Given the description of an element on the screen output the (x, y) to click on. 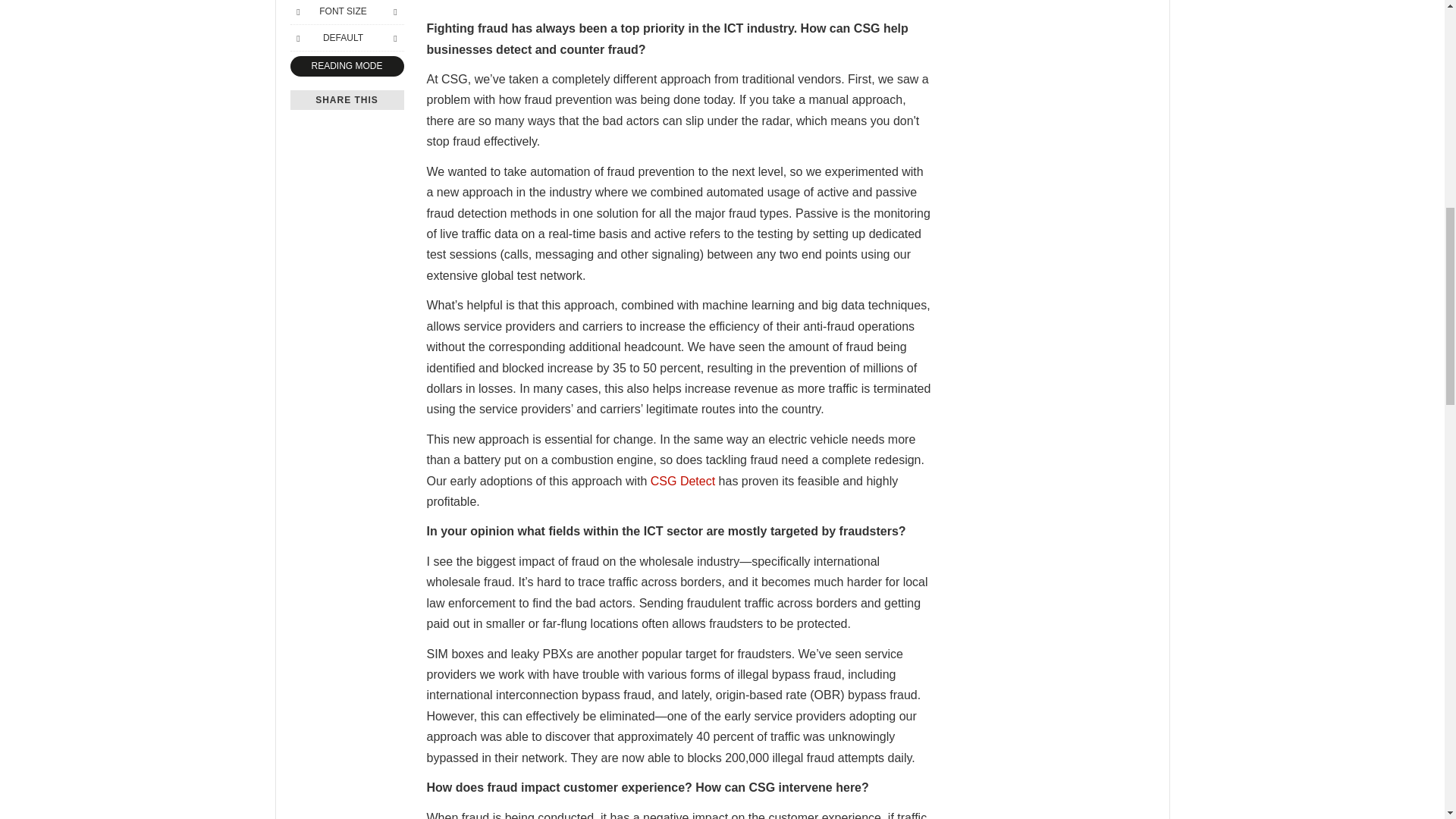
Smaller Font (297, 11)
Previous Font Style (297, 37)
Reading Mode (346, 66)
Next Font Style (395, 37)
Bigger Font (395, 11)
